Given the description of an element on the screen output the (x, y) to click on. 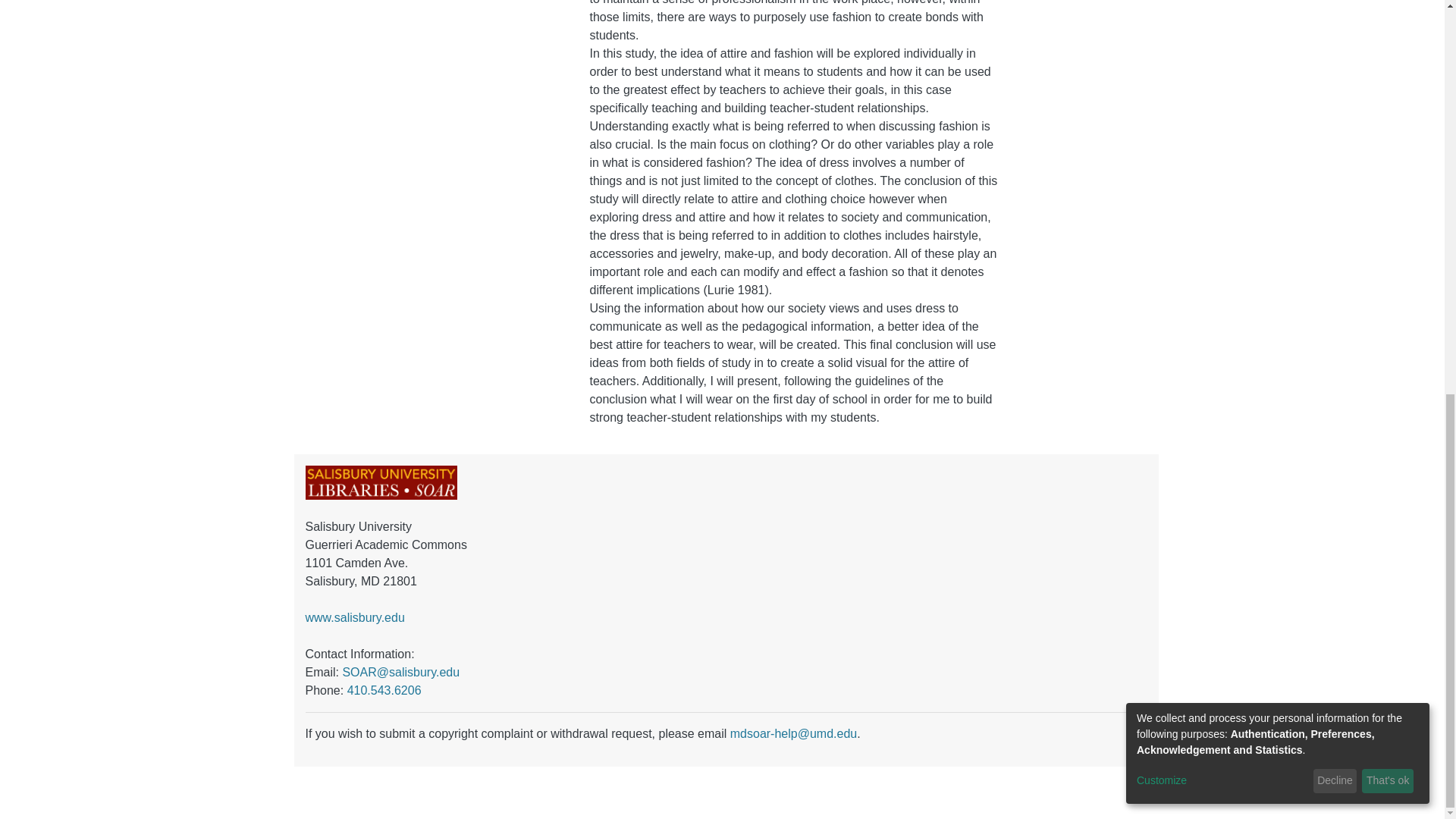
Customize (1222, 21)
410.543.6206 (384, 689)
Decline (1334, 21)
www.salisbury.edu (354, 617)
That's ok (1387, 21)
